Given the description of an element on the screen output the (x, y) to click on. 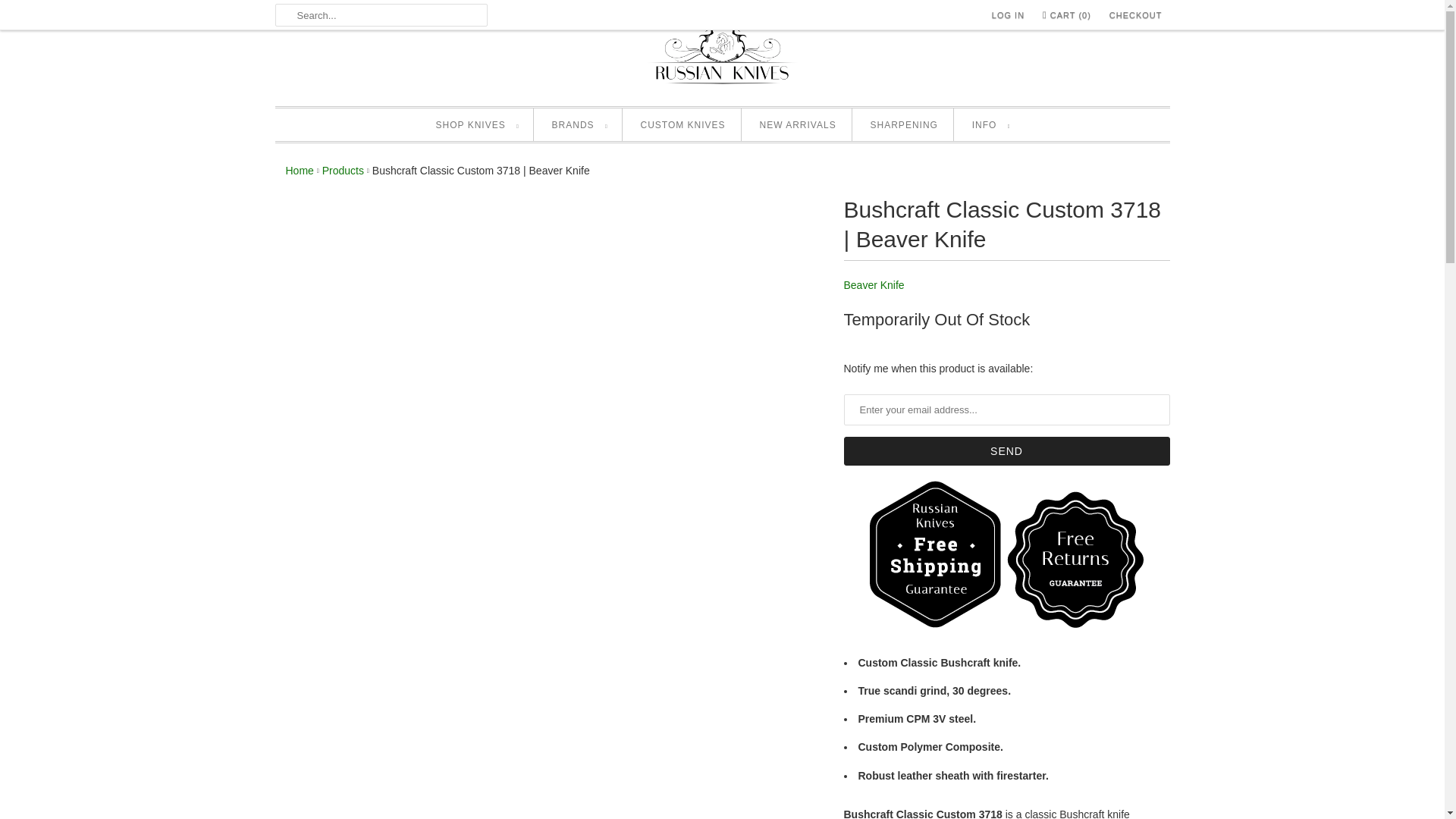
NEW ARRIVALS (797, 125)
Send (1006, 451)
Beaver Knife (873, 285)
CHECKOUT (1135, 15)
SHARPENING (903, 125)
Rosarms (299, 170)
CUSTOM KNIVES (682, 125)
Products (342, 170)
LOG IN (1008, 15)
INFO  (990, 125)
